Given the description of an element on the screen output the (x, y) to click on. 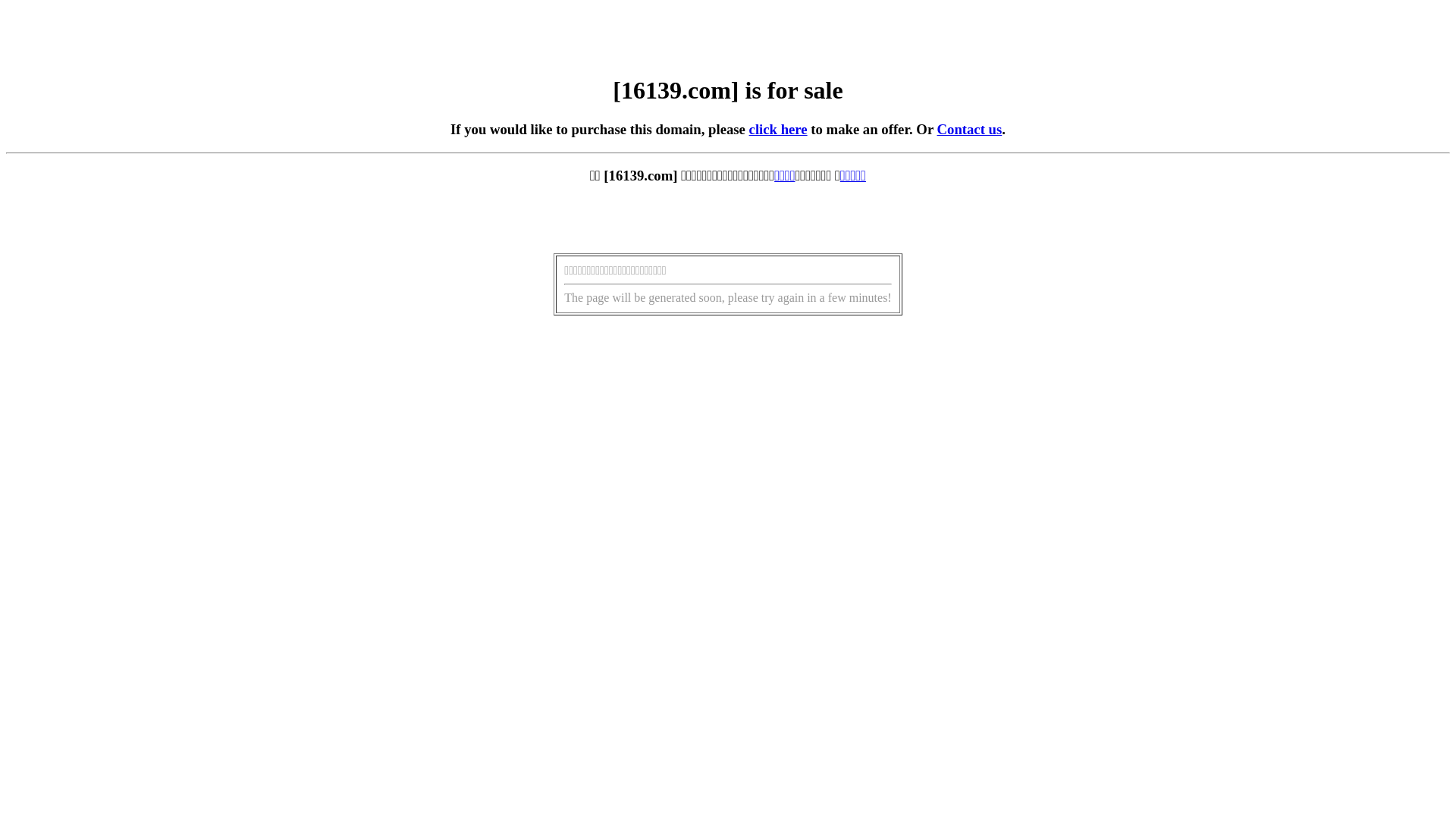
Contact us Element type: text (969, 129)
click here Element type: text (778, 129)
